Given the description of an element on the screen output the (x, y) to click on. 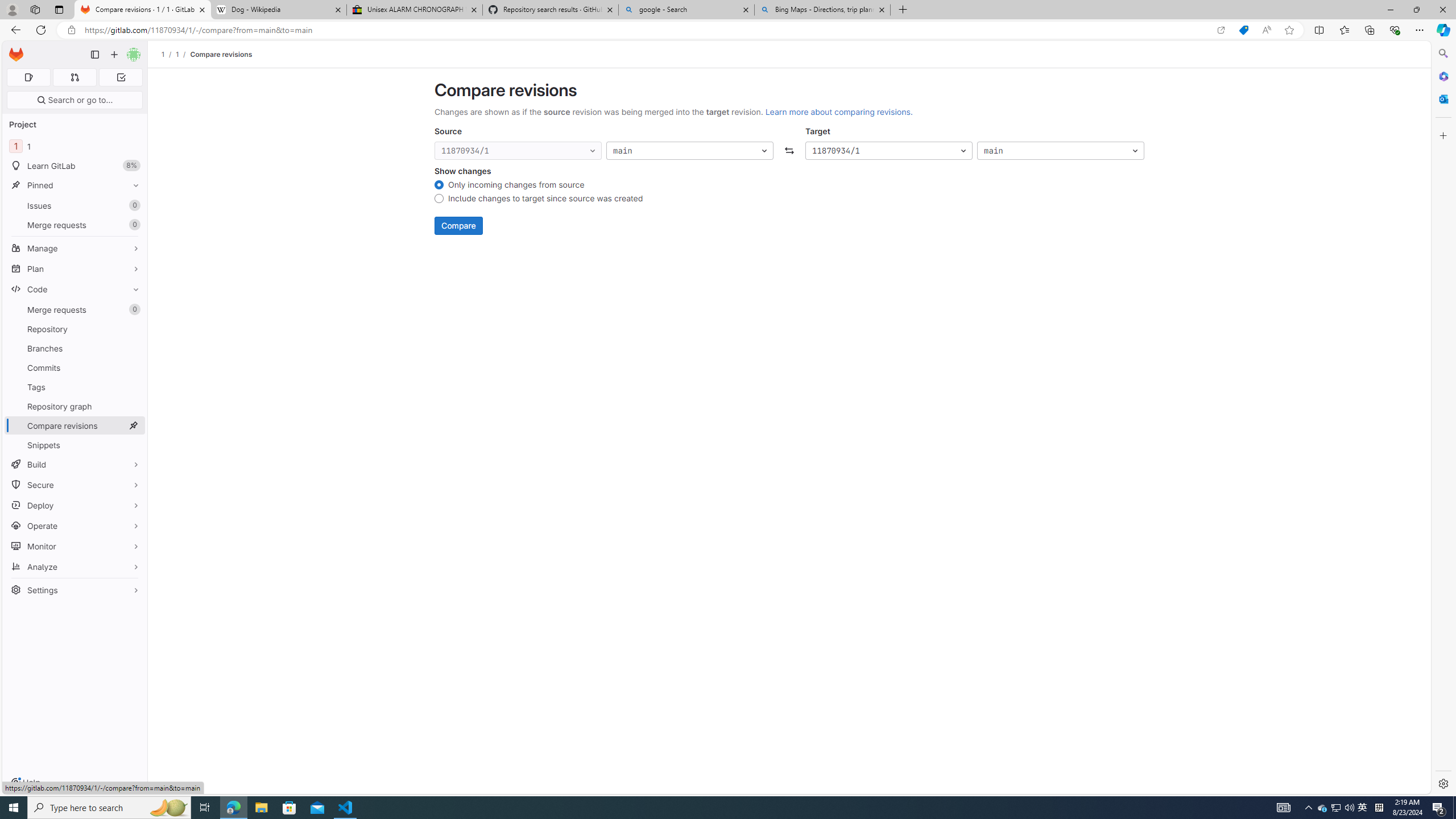
Swap (788, 150)
Pin Branches (132, 348)
Unpin Issues (132, 205)
main (1060, 150)
Snippets (74, 444)
Include changes to target since source was created (438, 199)
Repository graph (74, 406)
Issues0 (74, 205)
